Given the description of an element on the screen output the (x, y) to click on. 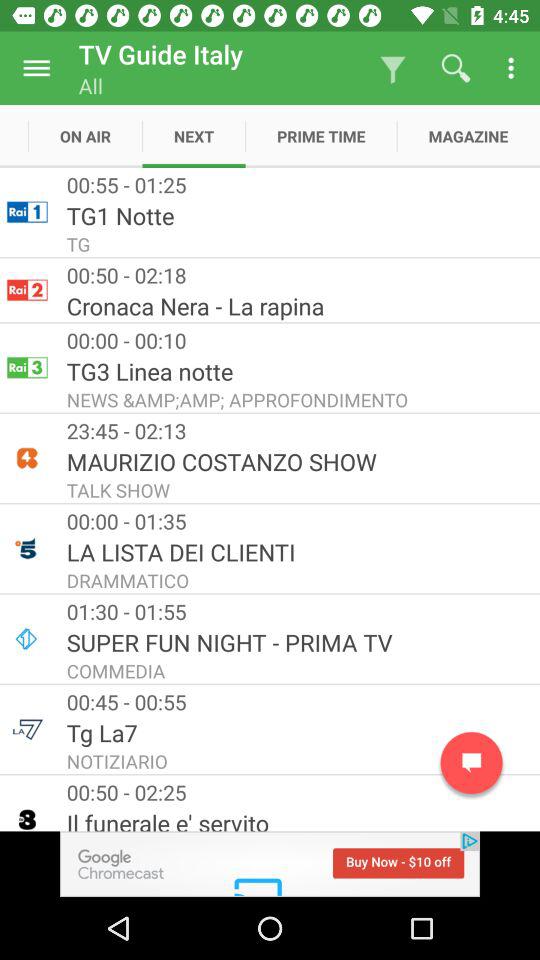
open menu (36, 68)
